Given the description of an element on the screen output the (x, y) to click on. 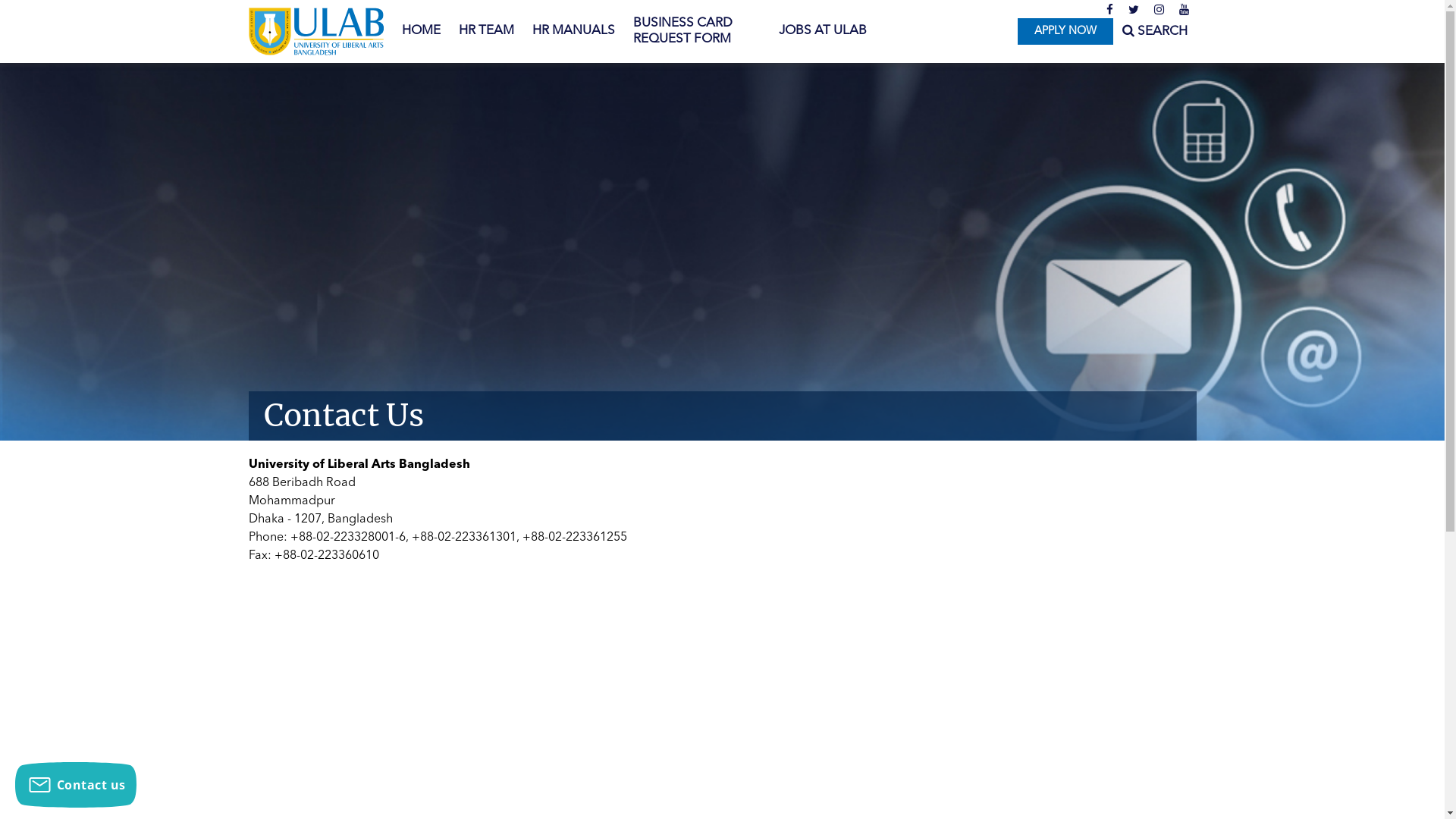
HR MANUALS Element type: text (573, 30)
HOME Element type: text (420, 30)
SEARCH Element type: text (1154, 31)
JOBS AT ULAB Element type: text (822, 30)
Contact us Element type: text (75, 784)
Skip to main content Element type: text (61, 0)
HR TEAM Element type: text (485, 30)
BUSINESS CARD REQUEST FORM Element type: text (695, 31)
APPLY NOW Element type: text (1064, 31)
